Given the description of an element on the screen output the (x, y) to click on. 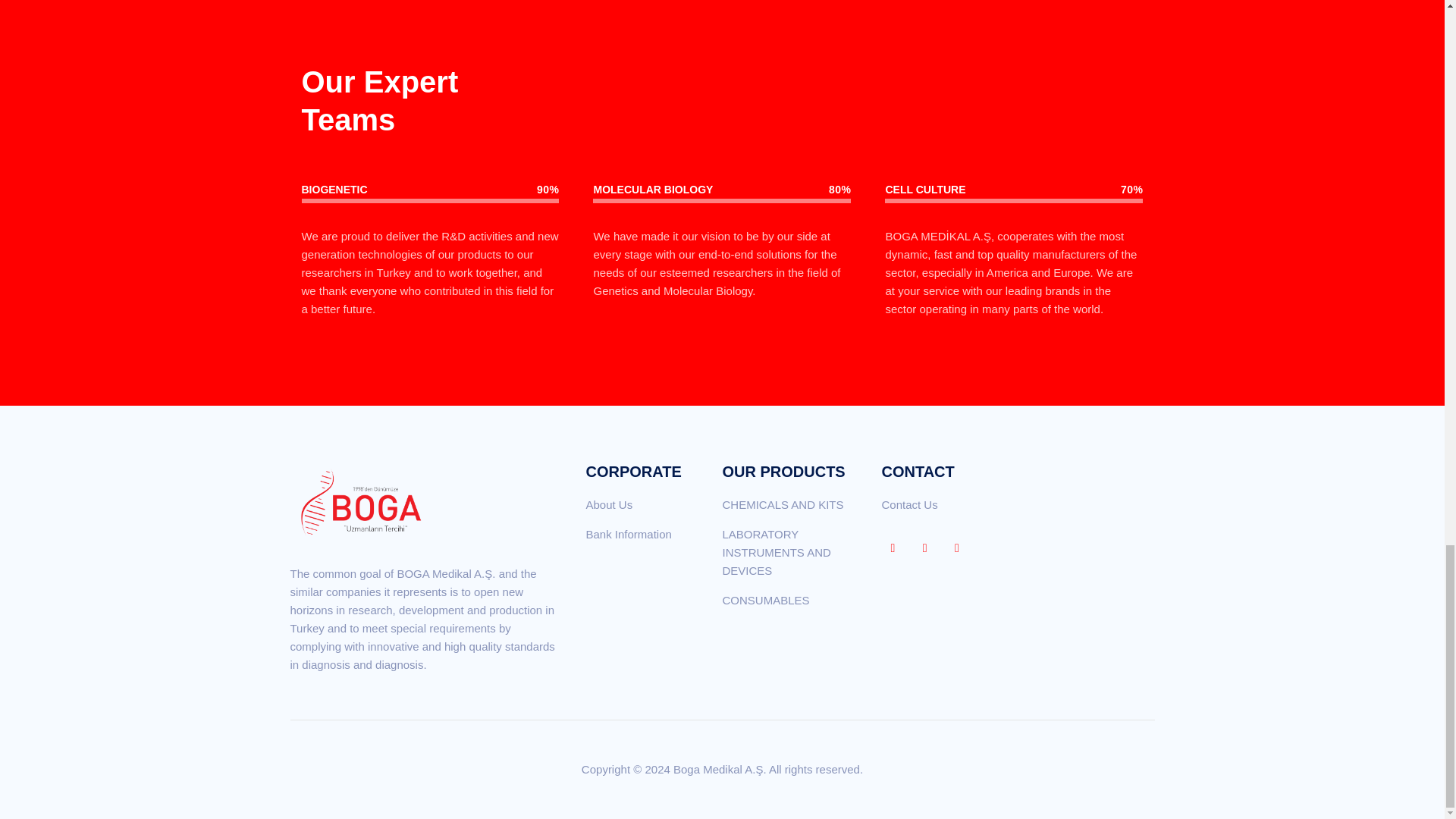
Facebook (892, 548)
Bank Information (628, 533)
CONSUMABLES (765, 599)
Instagram (956, 548)
LABORATORY INSTRUMENTS AND DEVICES (775, 552)
Contact Us (908, 504)
About Us (608, 504)
CHEMICALS AND KITS (782, 504)
LinkedIn (925, 548)
